Given the description of an element on the screen output the (x, y) to click on. 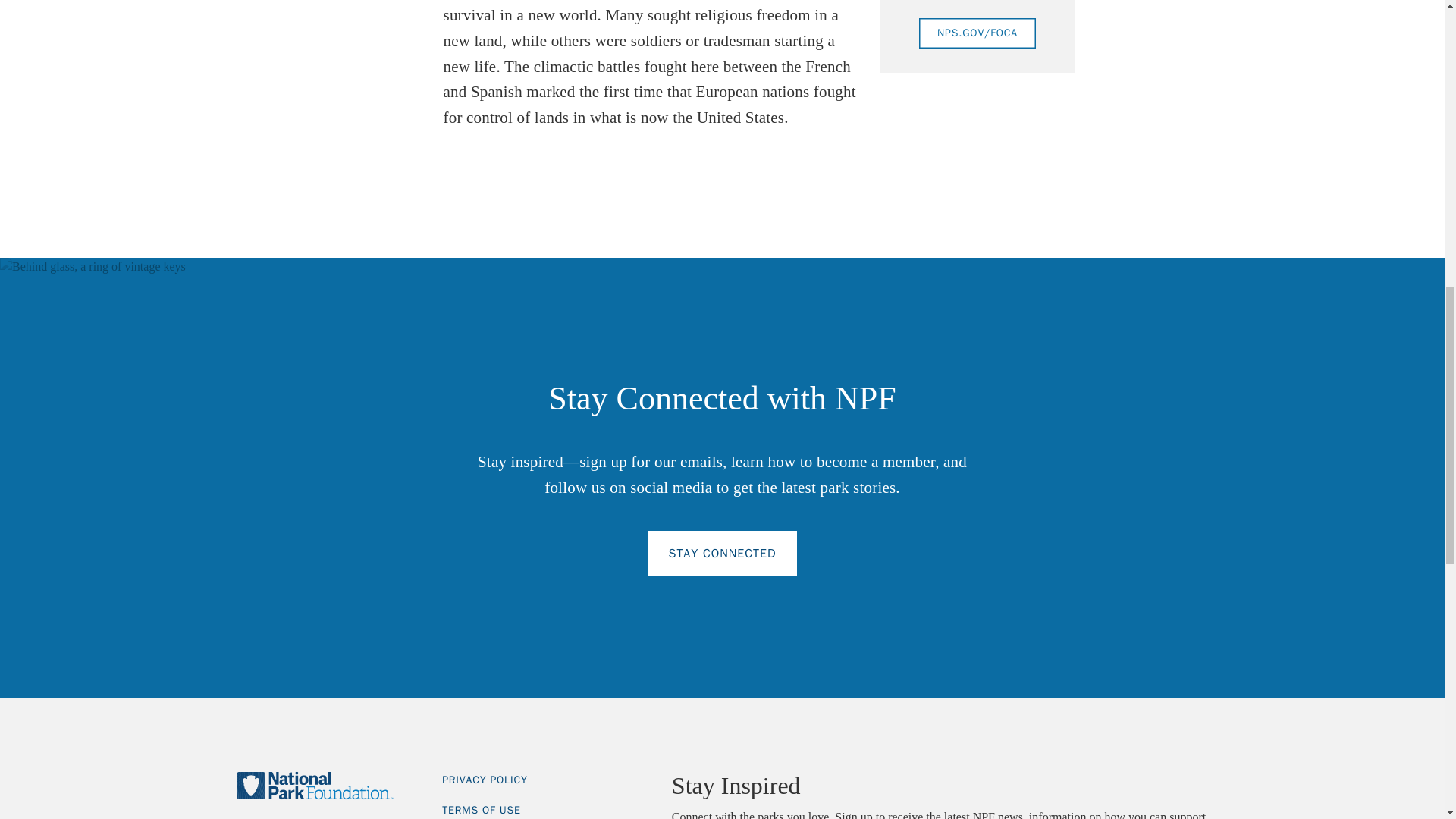
STAY CONNECTED (722, 553)
PRIVACY POLICY (484, 779)
TERMS OF USE (481, 810)
